Given the description of an element on the screen output the (x, y) to click on. 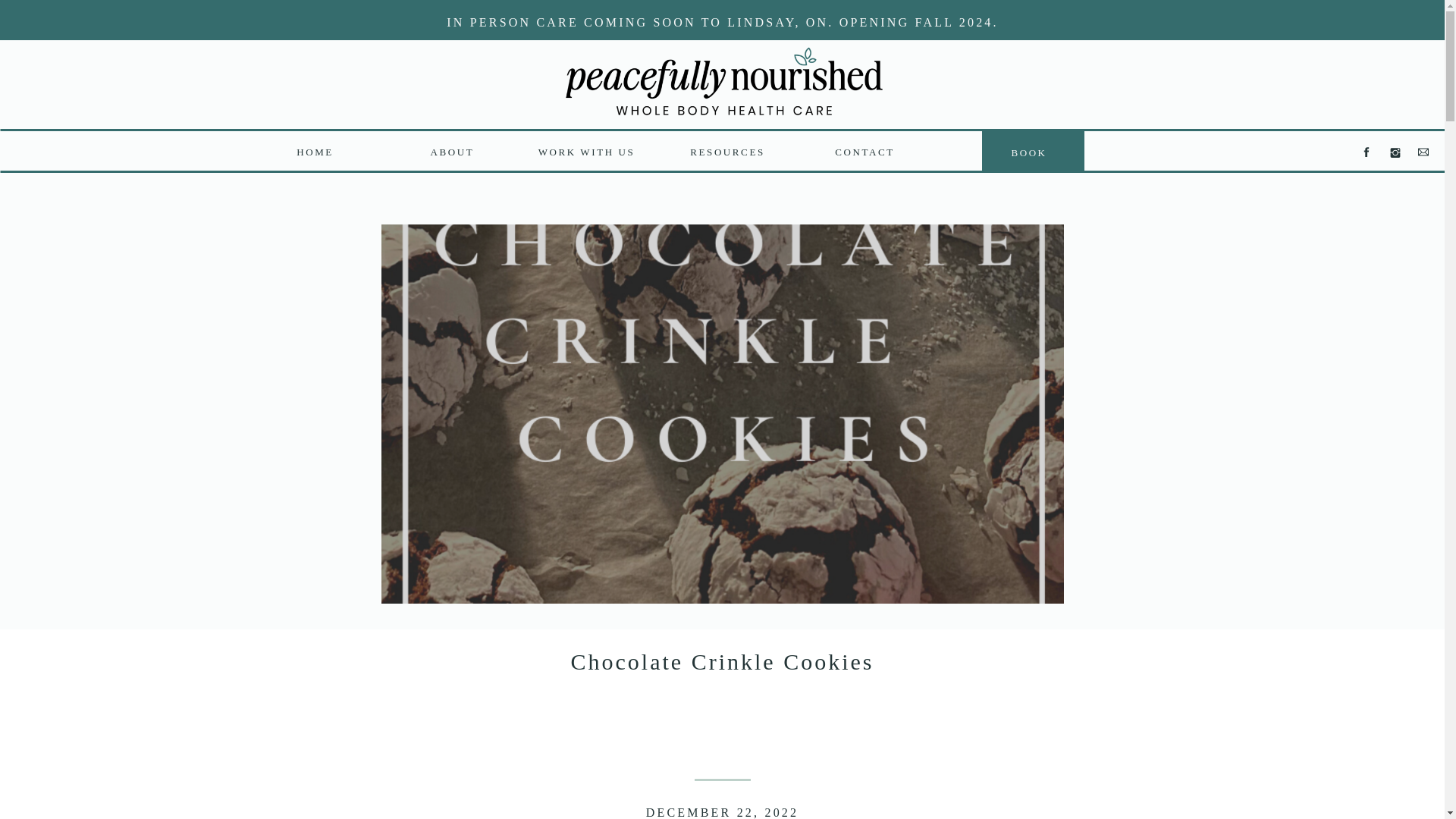
ABOUT (452, 150)
BOOK (1028, 151)
CONTACT (864, 150)
WORK WITH US (586, 150)
RESOURCES (726, 150)
HOME (314, 150)
